Given the description of an element on the screen output the (x, y) to click on. 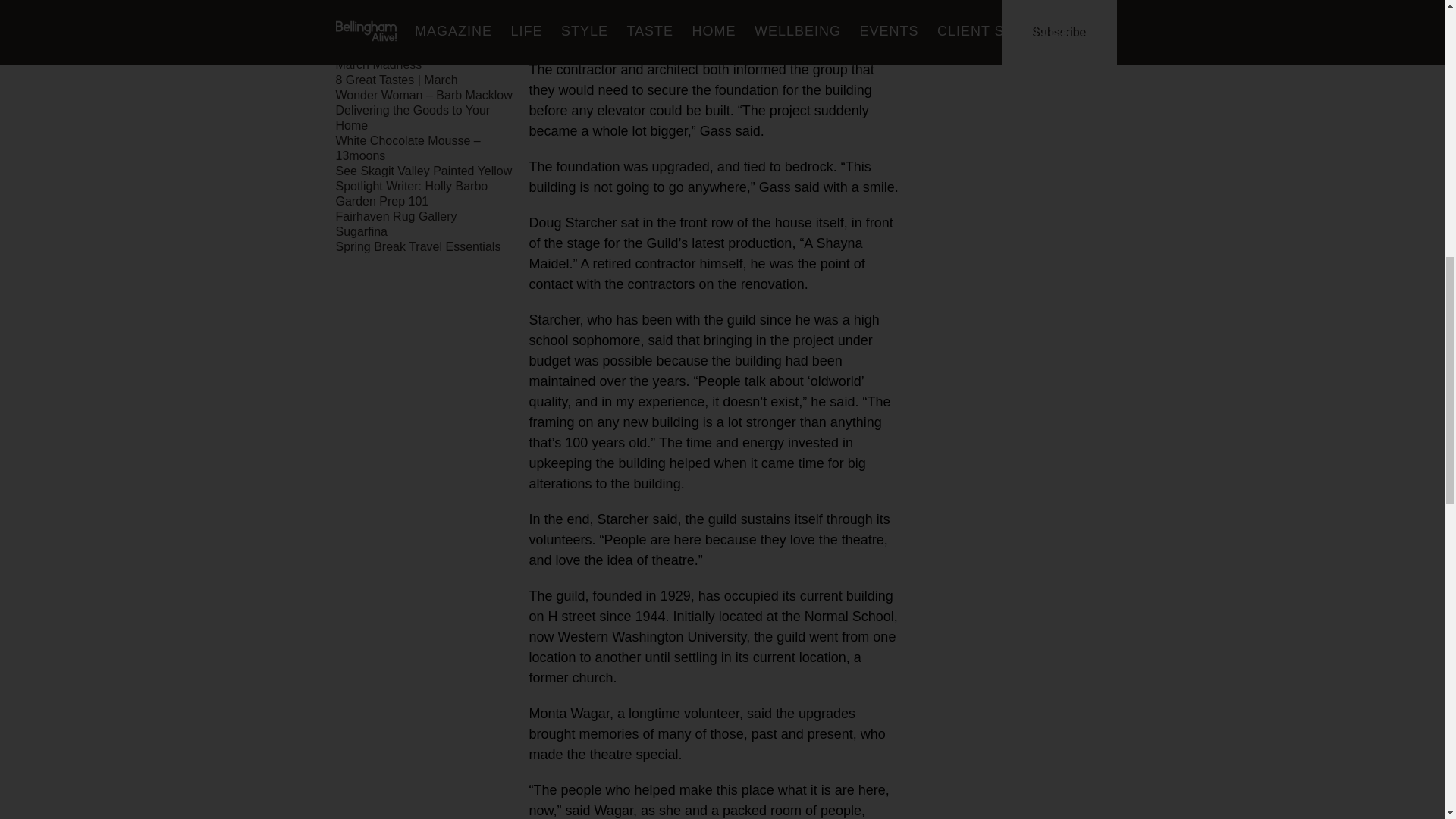
Delivering the Goods to Your Home (411, 117)
Spotlight Writer: Holly Barbo (410, 185)
Designing on the Human Scale (418, 33)
Ten Good Places to Watch March Madness (406, 57)
See Skagit Valley Painted Yellow (423, 170)
